Given the description of an element on the screen output the (x, y) to click on. 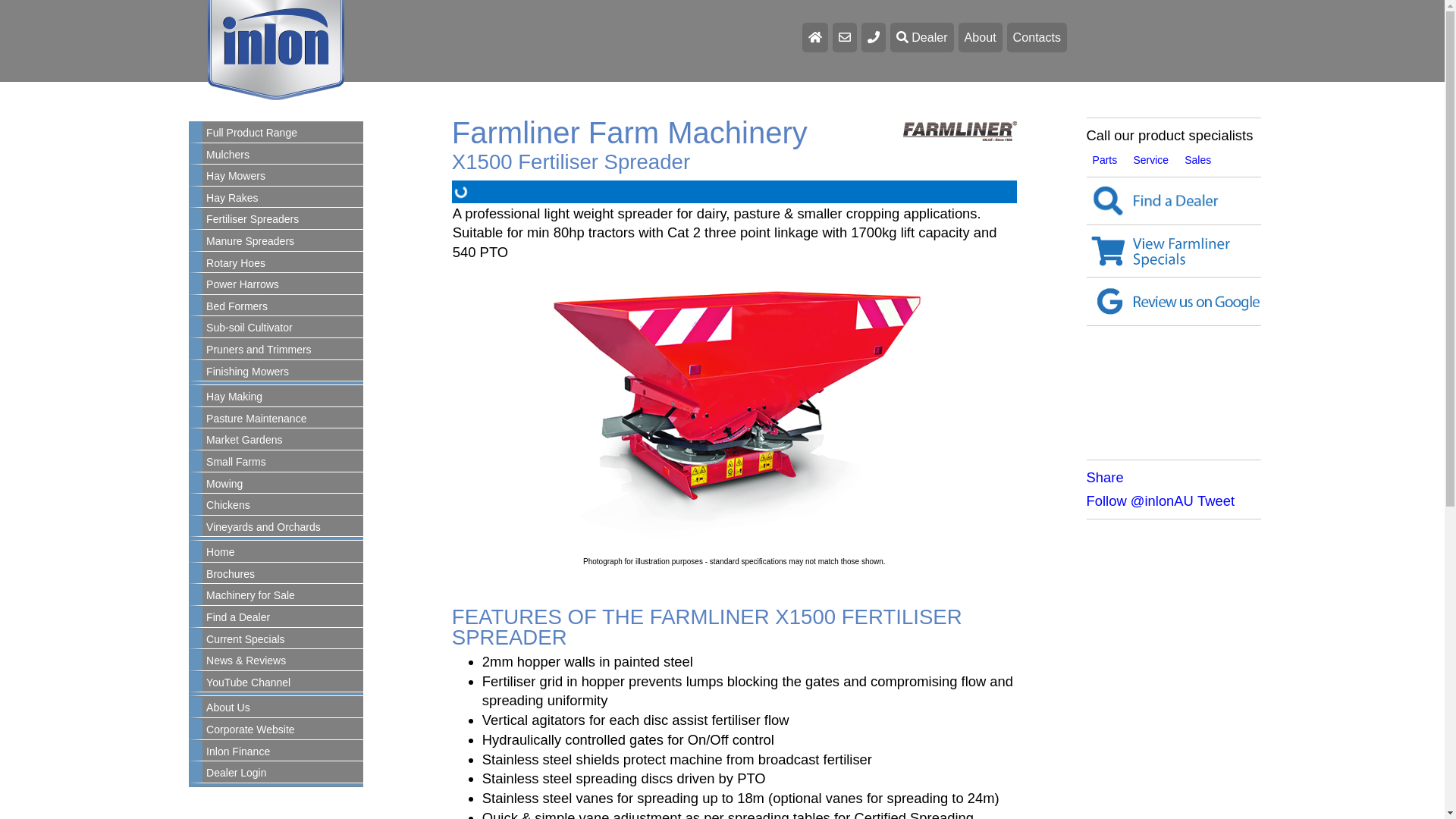
Share Element type: text (1104, 477)
Follow @inlonAU Element type: text (1139, 500)
Vineyards and Orchards Element type: text (282, 527)
Contacts Element type: text (1037, 37)
Hay Rakes Element type: text (282, 198)
Bed Formers Element type: text (282, 307)
Dealer Element type: text (921, 37)
Pruners and Trimmers Element type: text (282, 350)
YouTube Channel Element type: text (282, 683)
About Element type: text (980, 37)
Finishing Mowers Element type: text (282, 372)
Dealer Login Element type: text (282, 773)
Fertiliser Spreaders Element type: text (282, 219)
Market Gardens Element type: text (282, 440)
Sales Element type: text (1197, 159)
News & Reviews Element type: text (282, 661)
Inlon Finance Element type: text (282, 752)
Full Product Range Element type: text (282, 133)
Brochures Element type: text (282, 574)
Manure Spreaders Element type: text (282, 241)
Service Element type: text (1150, 159)
Hay Mowers Element type: text (282, 176)
Parts Element type: text (1104, 159)
Tweet Element type: text (1215, 500)
Pasture Maintenance Element type: text (282, 419)
About Us Element type: text (282, 708)
Hay Making Element type: text (282, 397)
Corporate Website Element type: text (282, 730)
Chickens Element type: text (282, 505)
Machinery for Sale Element type: text (282, 595)
Mulchers Element type: text (282, 155)
Sub-soil Cultivator Element type: text (282, 328)
Small Farms Element type: text (282, 462)
X1500 Element type: hover (733, 415)
Find a Dealer Element type: text (282, 617)
Mowing Element type: text (282, 483)
View Farmliner Specials Element type: hover (1173, 250)
Review us on Google Element type: hover (1173, 300)
Current Specials Element type: text (282, 639)
Rotary Hoes Element type: text (282, 263)
Home Element type: text (282, 552)
Find a Dealer Element type: hover (1173, 201)
Power Harrows Element type: text (282, 285)
